Given the description of an element on the screen output the (x, y) to click on. 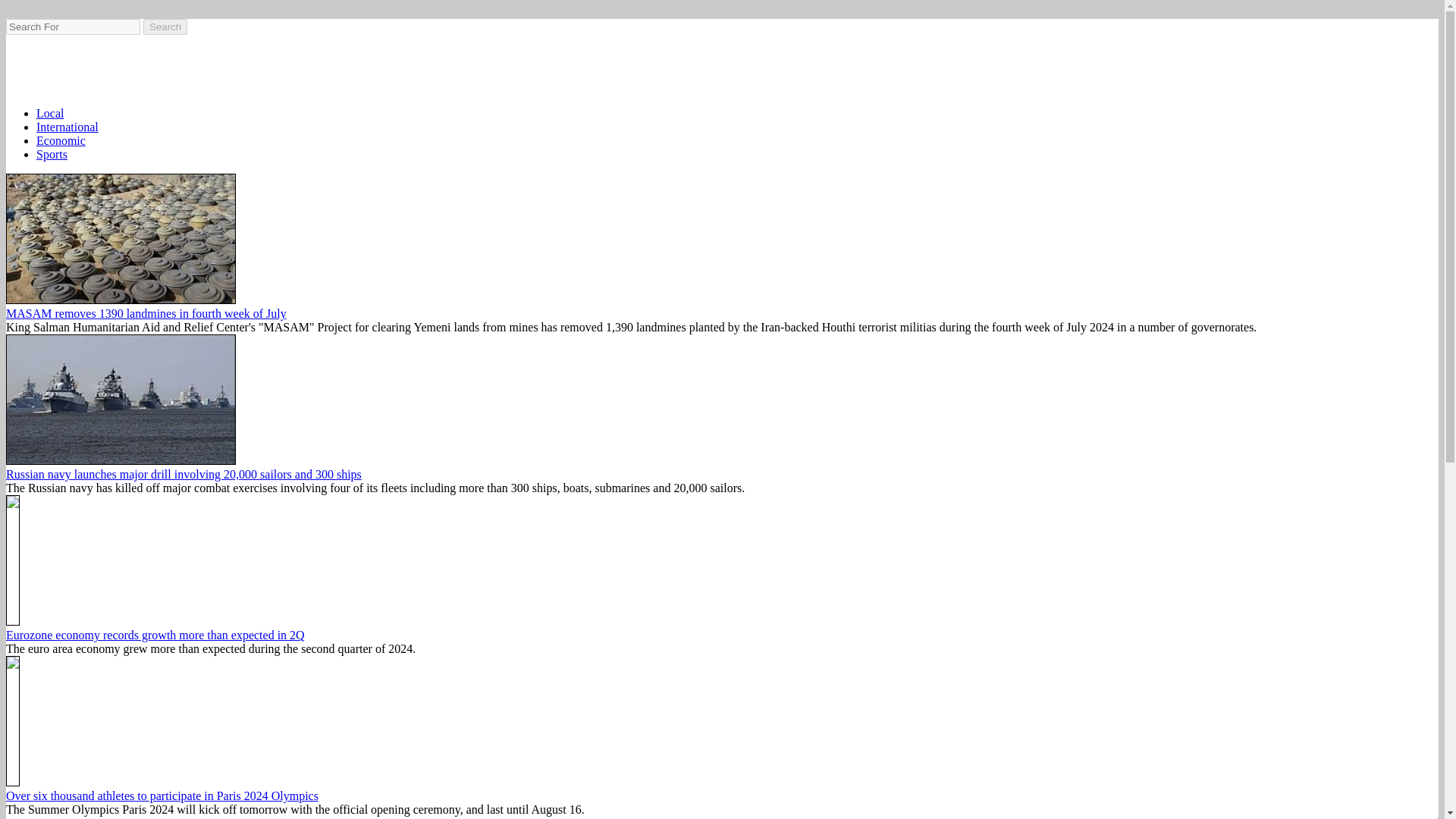
International (67, 126)
Search (164, 26)
MASAM removes 1390 landmines in fourth week of July (145, 313)
Local (50, 113)
Economic (60, 140)
Eurozone economy records growth more than expected in 2Q (154, 634)
Sports (51, 154)
